Given the description of an element on the screen output the (x, y) to click on. 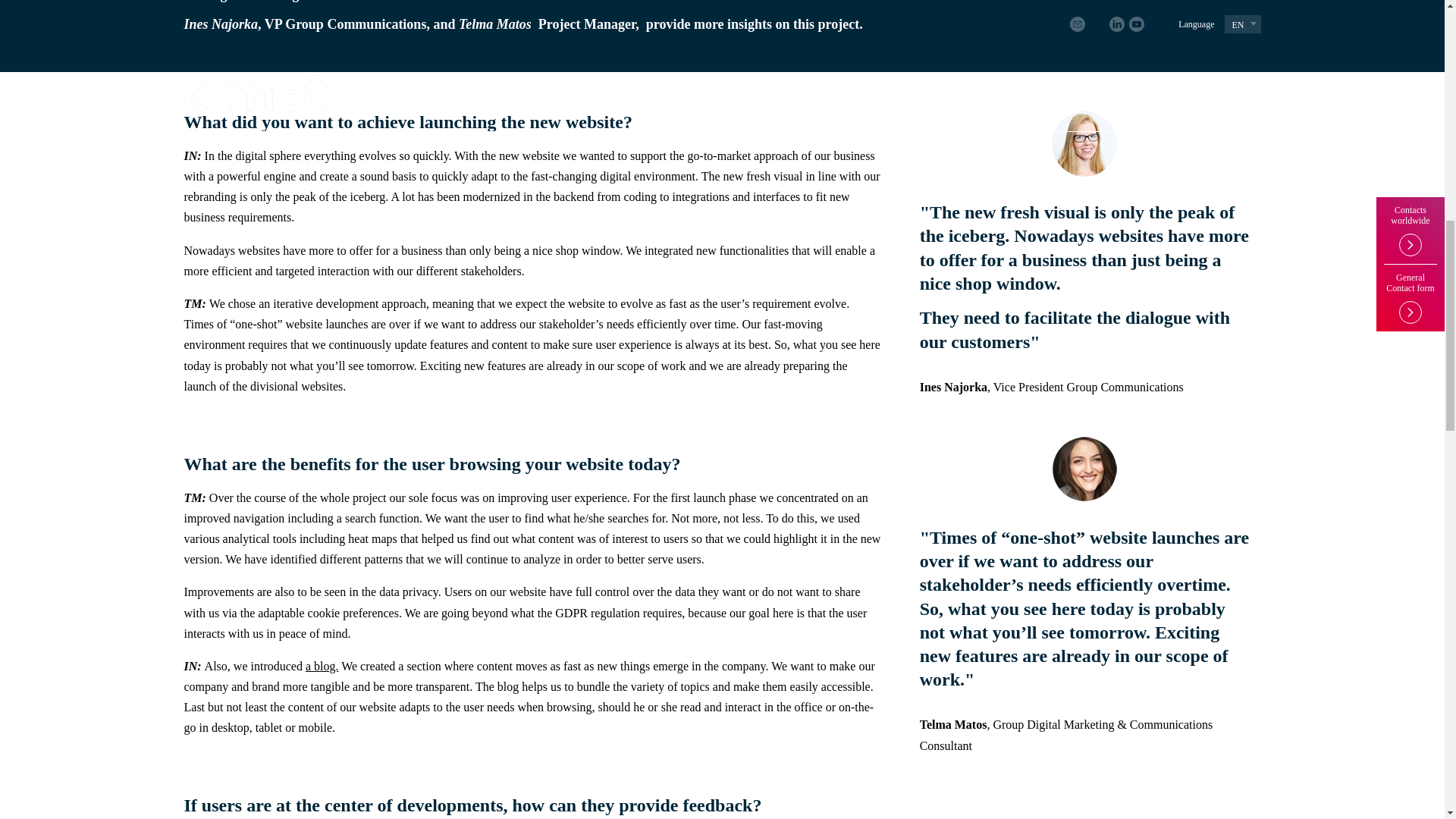
a blog. (322, 666)
